Given the description of an element on the screen output the (x, y) to click on. 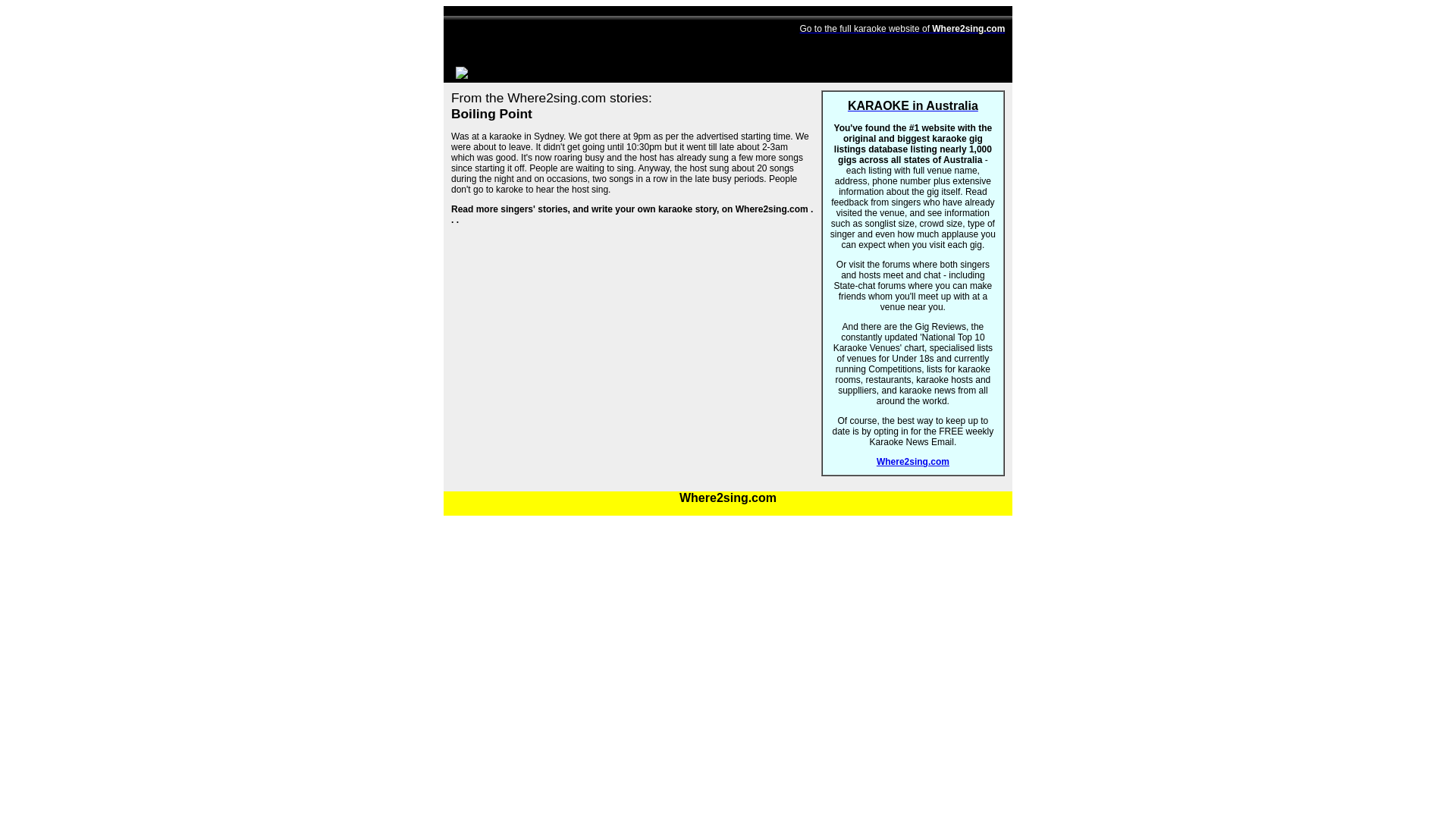
KARAOKE in Australia (912, 116)
Where2sing.com (912, 461)
Go to the full karaoke website of Where2sing.com (902, 28)
